Given the description of an element on the screen output the (x, y) to click on. 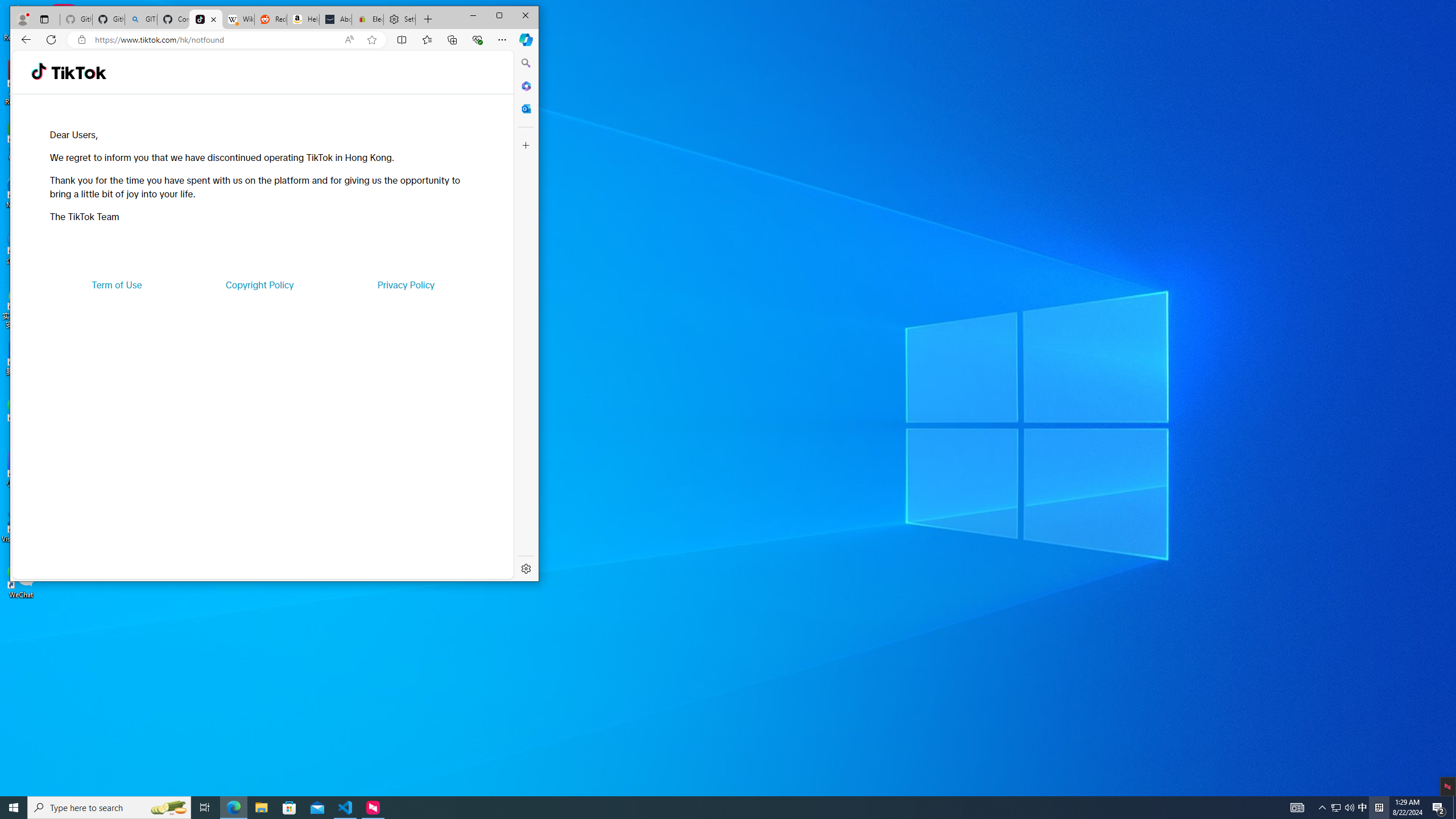
Term of Use (116, 284)
Microsoft Store (289, 807)
Start (13, 807)
Search highlights icon opens search home window (167, 807)
Show desktop (1454, 807)
User Promoted Notification Area (1342, 807)
Privacy Policy (405, 284)
TikTok (1362, 807)
